Given the description of an element on the screen output the (x, y) to click on. 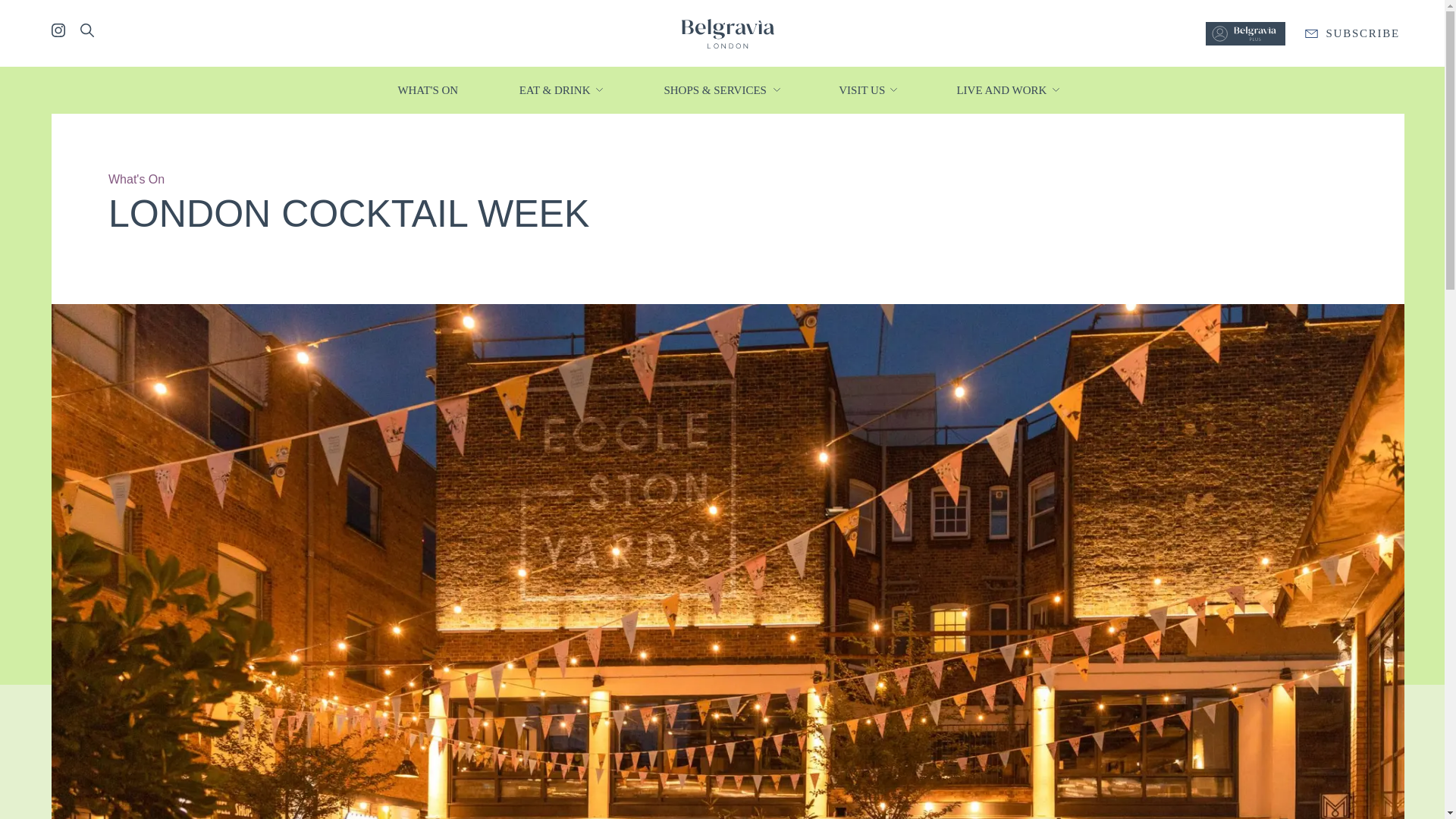
VISIT US (862, 89)
Belgravia London (727, 32)
WHAT'S ON (428, 89)
SUBSCRIBE (1352, 33)
LIVE AND WORK (1002, 89)
